Given the description of an element on the screen output the (x, y) to click on. 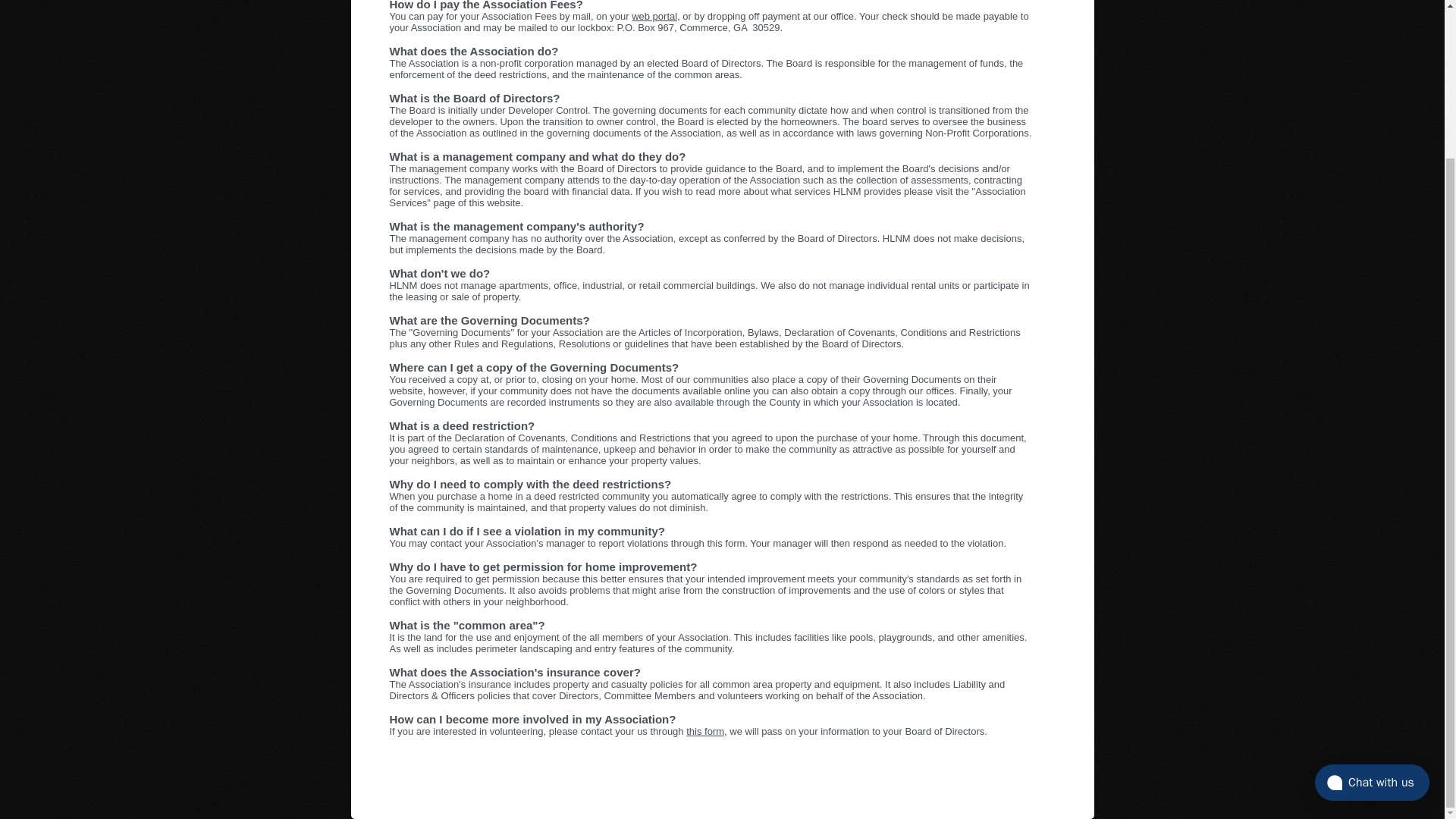
web portal (654, 16)
Chat with us (1371, 596)
this form, (705, 731)
we  (735, 731)
Open chat window (1371, 596)
